Given the description of an element on the screen output the (x, y) to click on. 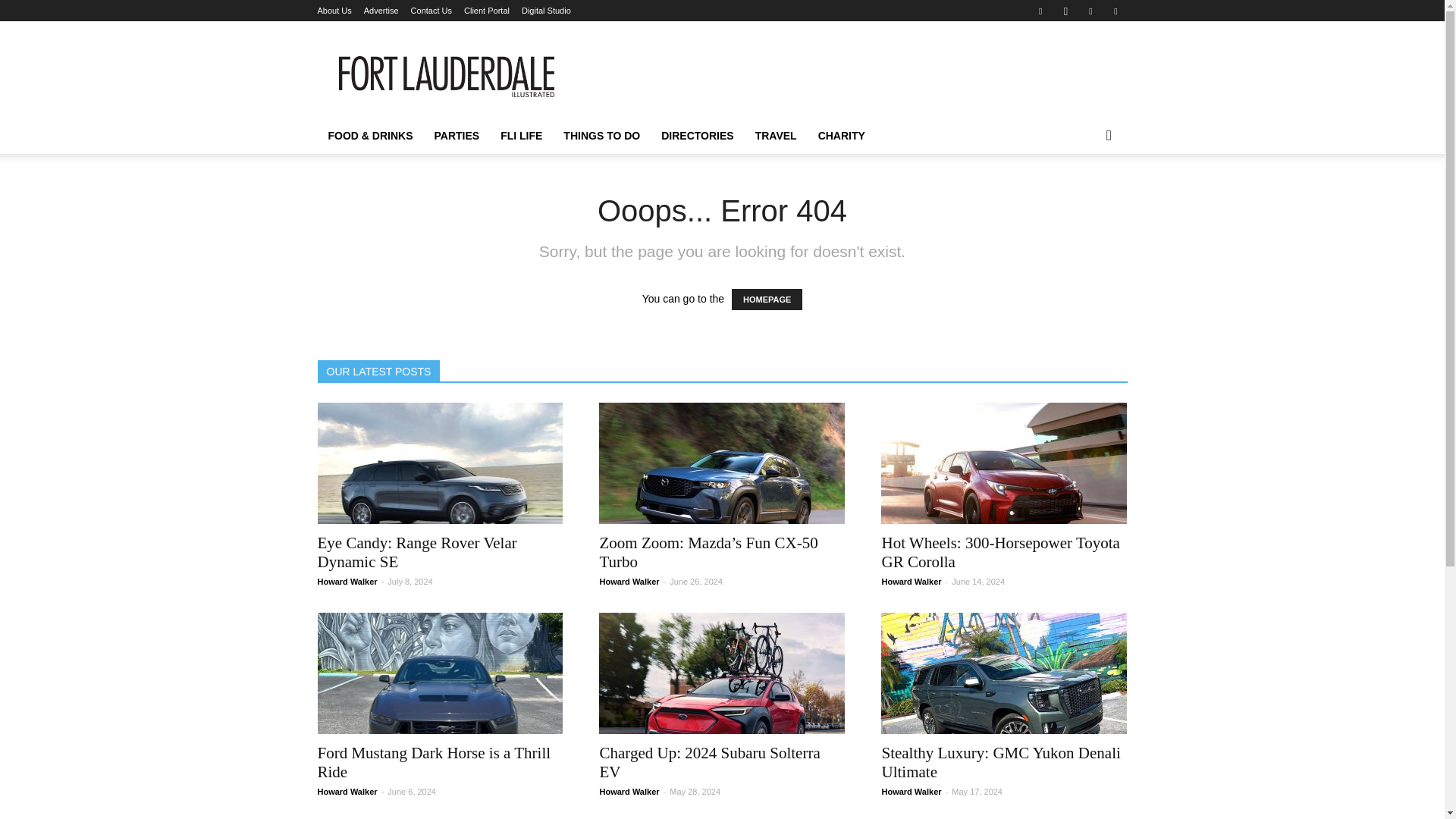
Twitter (1114, 10)
Eye Candy: Range Rover Velar Dynamic SE (416, 551)
Contact Us (430, 10)
Eye Candy: Range Rover Velar Dynamic SE (439, 463)
Instagram (1065, 10)
Posts by Howard Walker (628, 581)
Facebook (1040, 10)
Pinterest (1090, 10)
Digital Studio (545, 10)
Client Portal (486, 10)
